Given the description of an element on the screen output the (x, y) to click on. 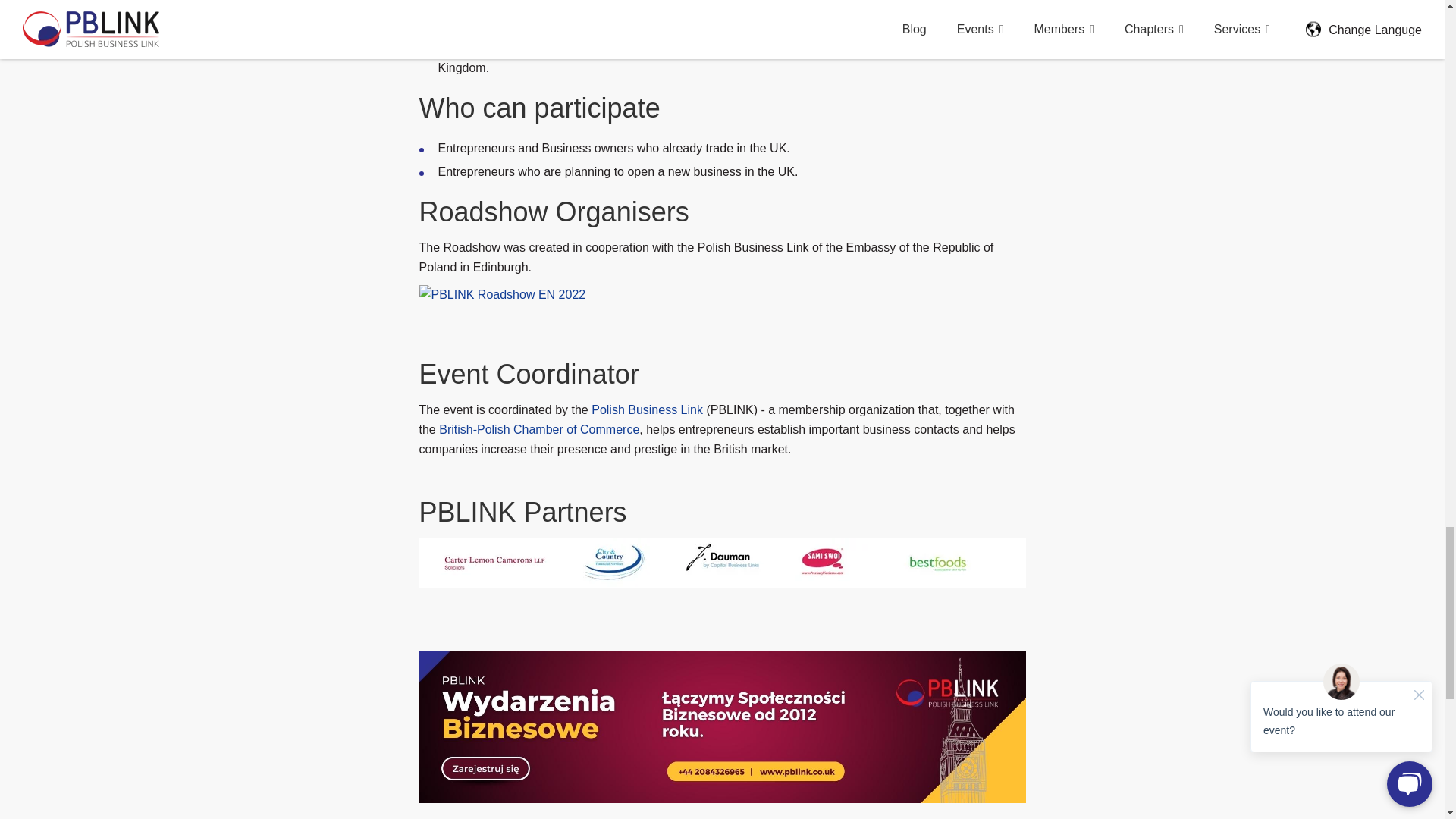
British-Polish Chamber of Commerce (539, 429)
Polish Business Link (647, 409)
